Given the description of an element on the screen output the (x, y) to click on. 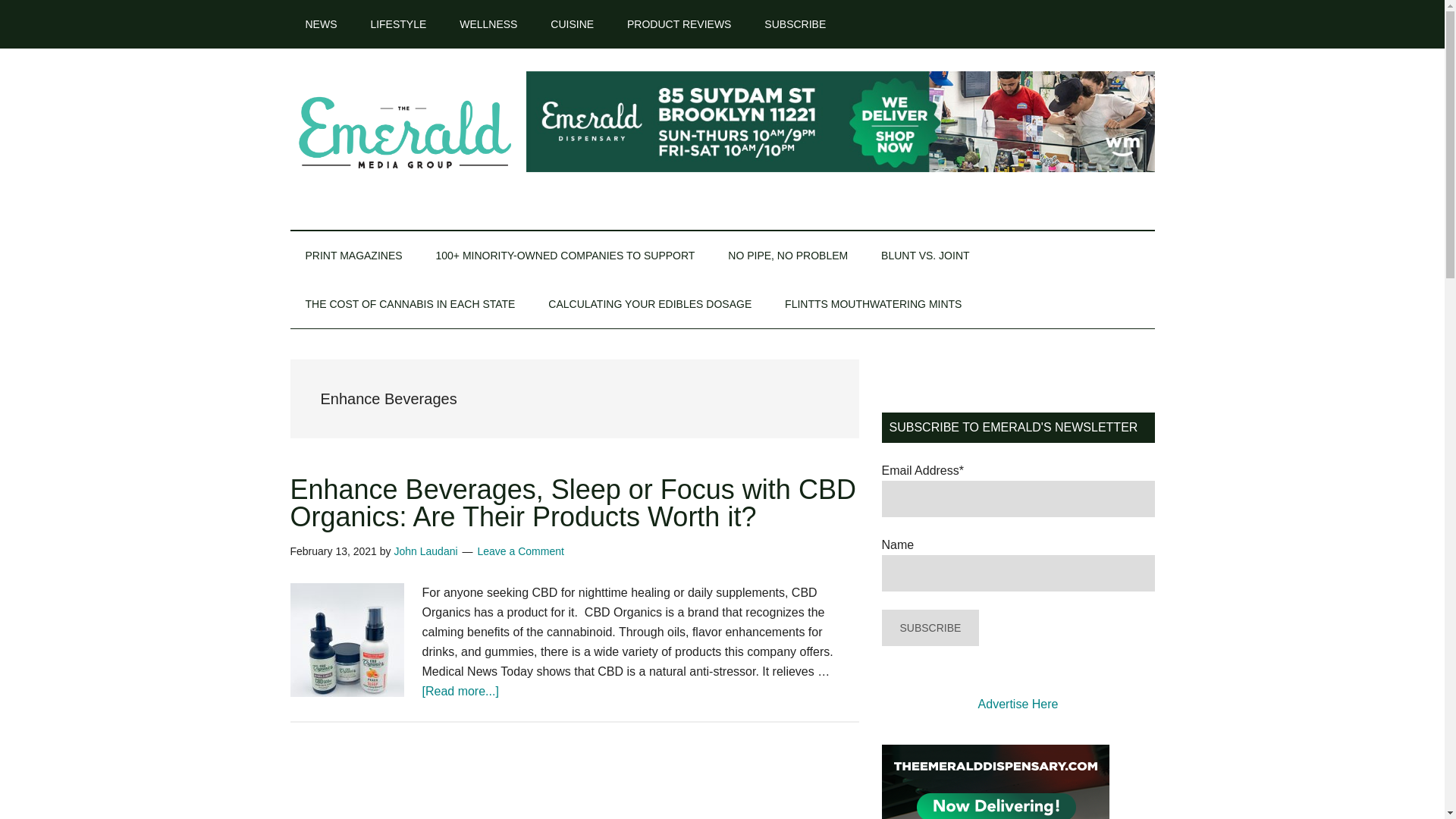
NO PIPE, NO PROBLEM (788, 255)
BLUNT VS. JOINT (925, 255)
NEWS (320, 24)
Subscribe (929, 627)
LIFESTYLE (398, 24)
THE COST OF CANNABIS IN EACH STATE (409, 304)
PRODUCT REVIEWS (678, 24)
CALCULATING YOUR EDIBLES DOSAGE (649, 304)
WELLNESS (488, 24)
